Given the description of an element on the screen output the (x, y) to click on. 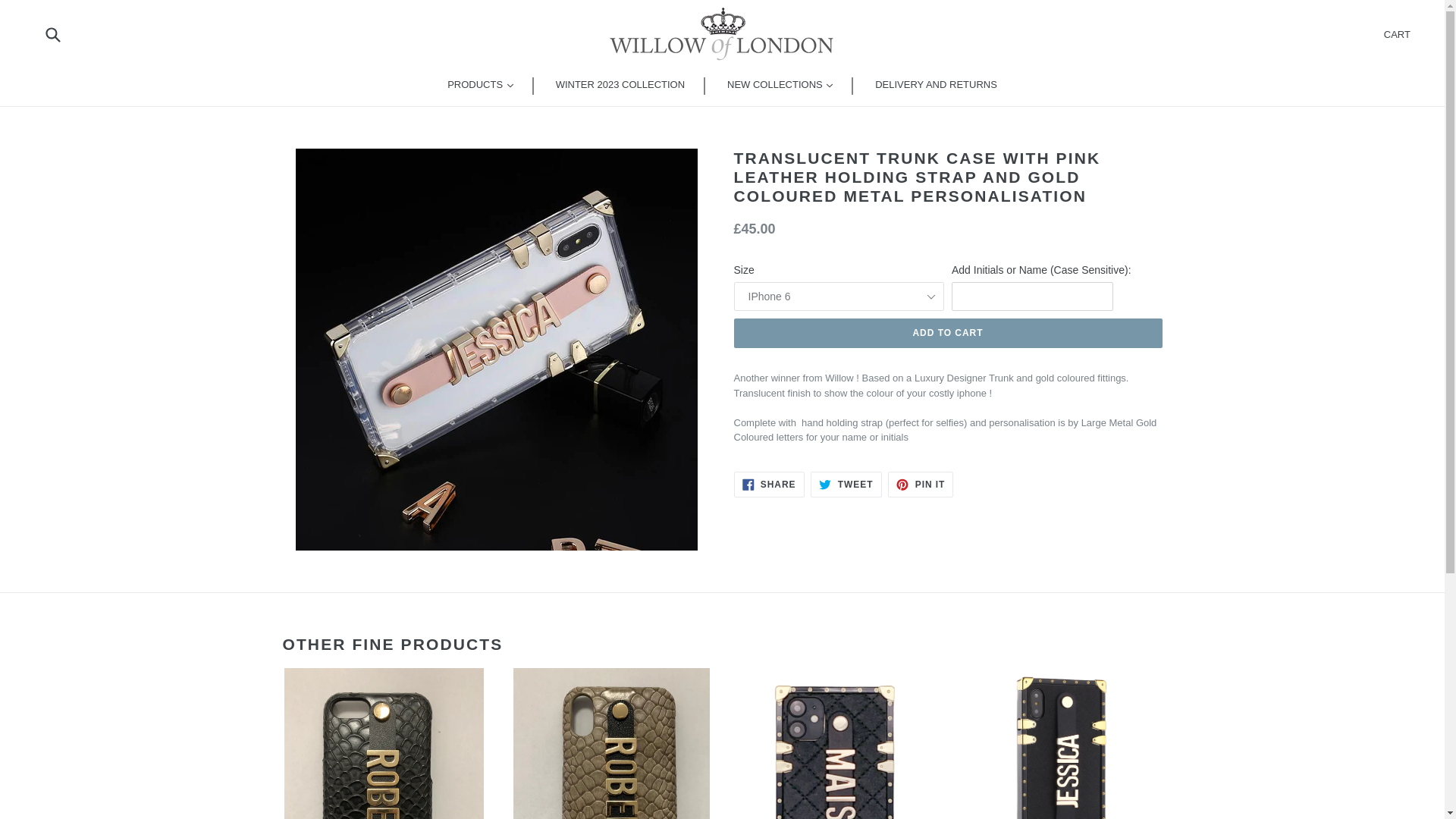
Tweet on Twitter (845, 484)
DELIVERY AND RETURNS (935, 85)
CART (769, 484)
ADD TO CART (1397, 34)
Share on Facebook (920, 484)
Pin on Pinterest (947, 333)
WINTER 2023 COLLECTION (769, 484)
